Given the description of an element on the screen output the (x, y) to click on. 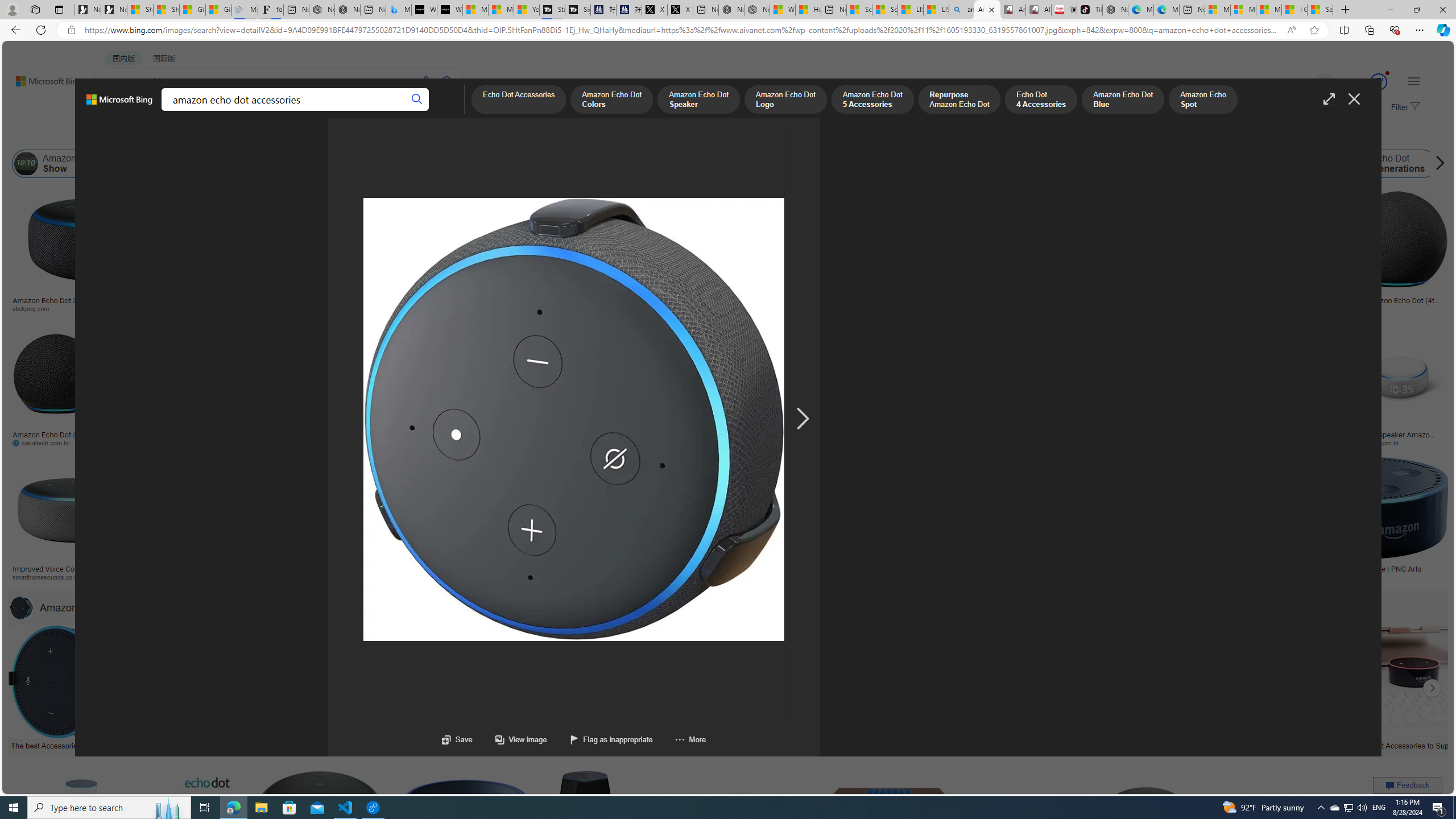
15 Best Echo Dot Accessories You Can Buy (2020) | Beebom (683, 744)
License (378, 135)
More (679, 739)
Amazon Echo Dot Logo (949, 163)
Date (336, 135)
Class: b_pri_nav_svg (191, 112)
stickpng.com (677, 308)
